Given the description of an element on the screen output the (x, y) to click on. 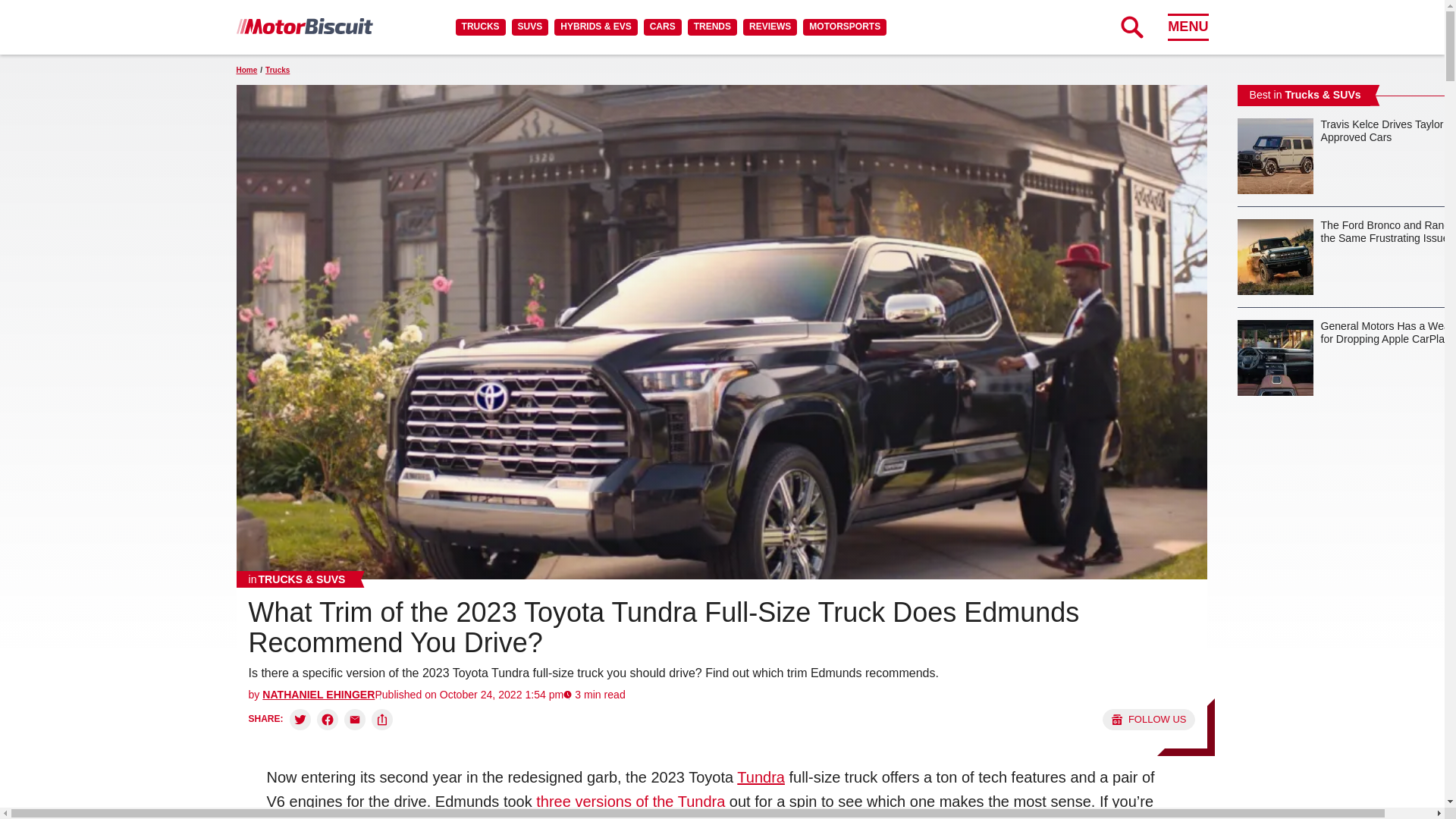
MotorBiscuit (303, 26)
Copy link and share:  (382, 719)
MOTORSPORTS (844, 26)
Expand Search (1131, 26)
Follow us on Google News (1148, 719)
MENU (1187, 26)
SUVS (530, 26)
TRENDS (711, 26)
TRUCKS (480, 26)
